Given the description of an element on the screen output the (x, y) to click on. 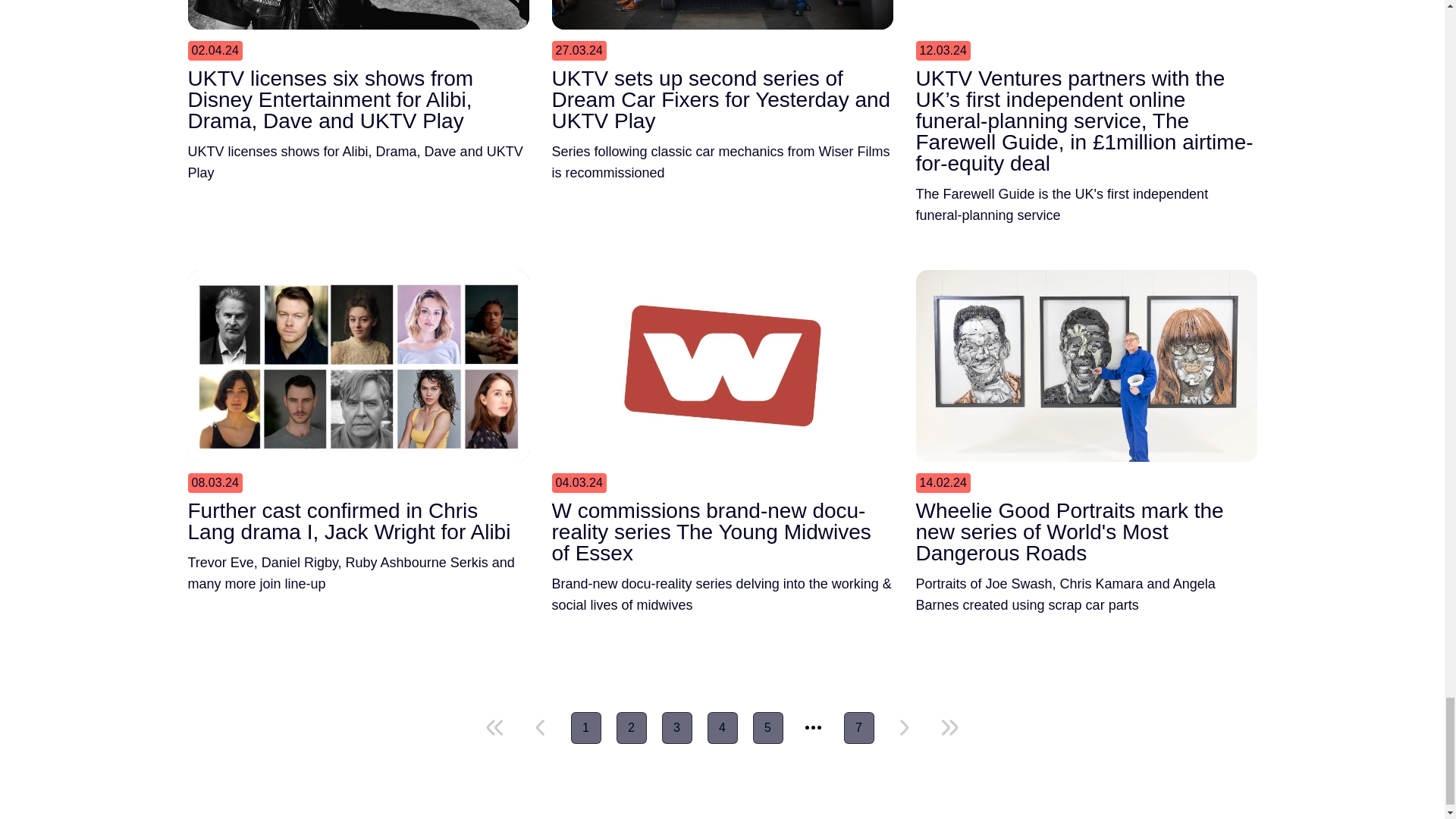
default (540, 727)
default (949, 727)
default (904, 727)
default (493, 727)
